Given the description of an element on the screen output the (x, y) to click on. 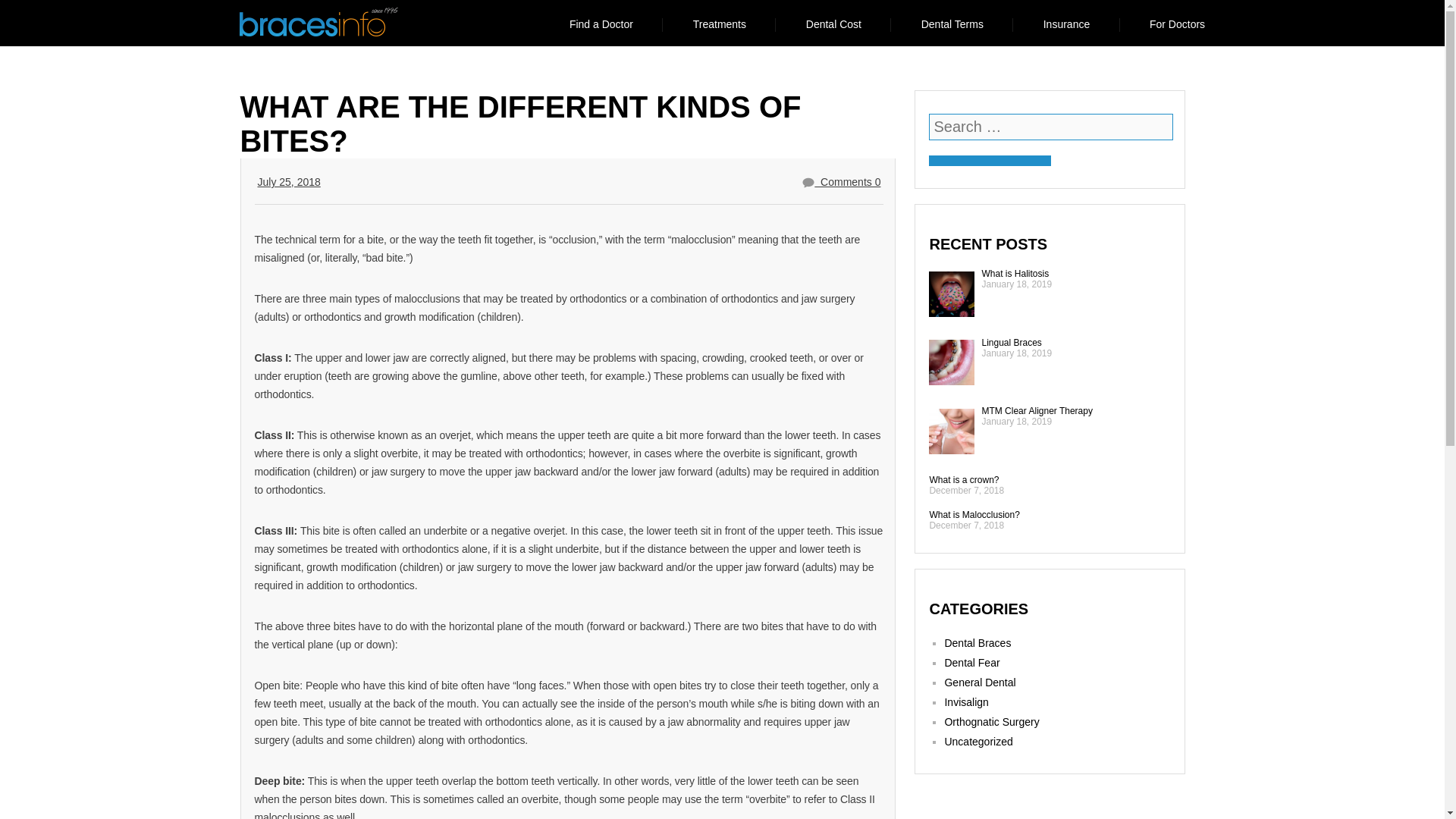
July 25, 2018 (288, 182)
General Dental (978, 682)
Treatments (719, 24)
Uncategorized (977, 741)
Orthognatic Surgery (991, 721)
Find a Doctor (601, 24)
MTM Clear Aligner Therapy (1037, 410)
Invisalign (965, 702)
Insurance (1066, 24)
Dental Fear (970, 662)
